Given the description of an element on the screen output the (x, y) to click on. 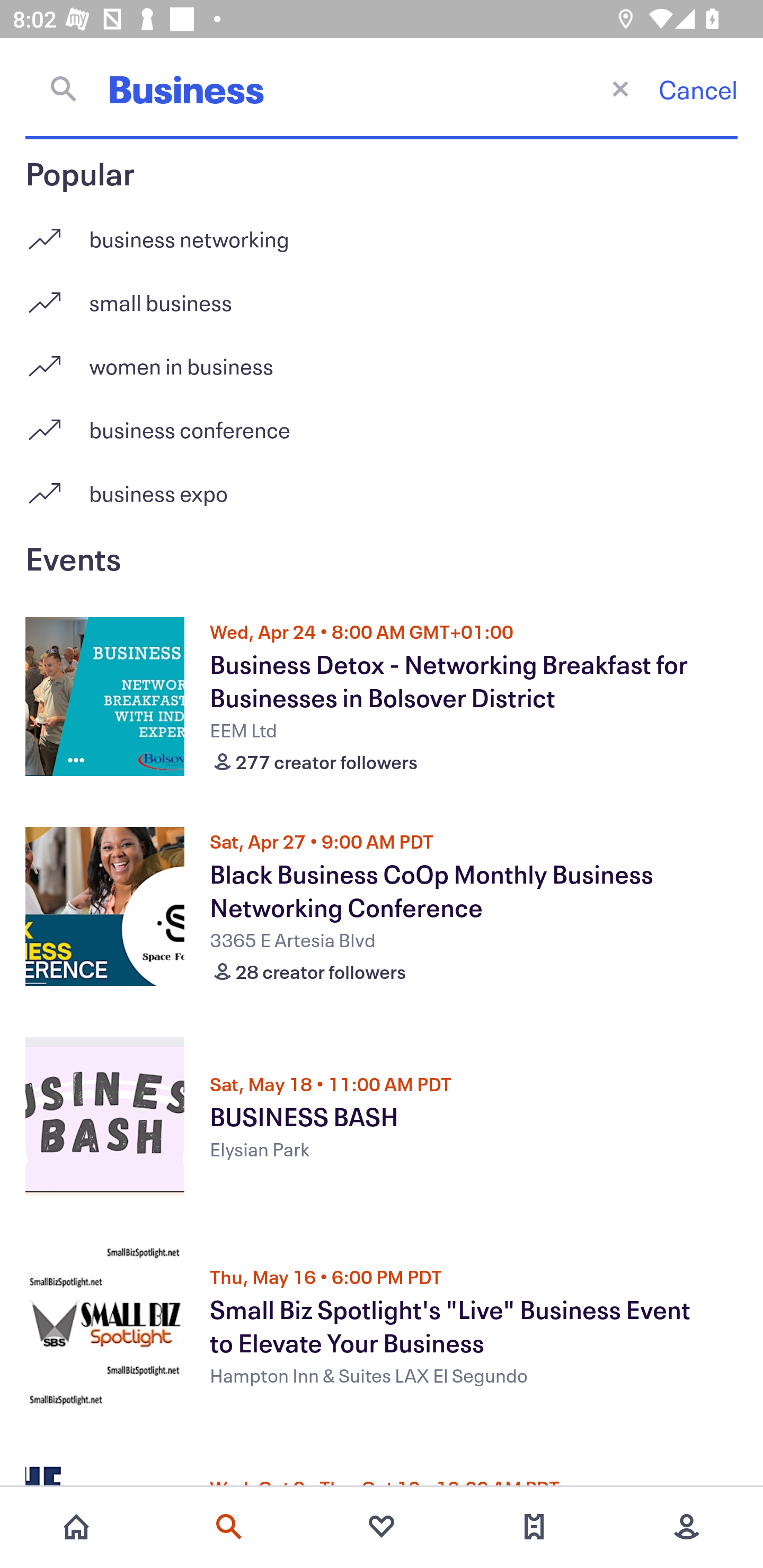
Business Close current screen Cancel (381, 88)
Close current screen (620, 88)
Cancel (697, 89)
business networking (381, 231)
small business (381, 295)
women in business (381, 358)
business conference (381, 422)
business expo (381, 492)
Home (76, 1526)
Search events (228, 1526)
Favorites (381, 1526)
Tickets (533, 1526)
More (686, 1526)
